Given the description of an element on the screen output the (x, y) to click on. 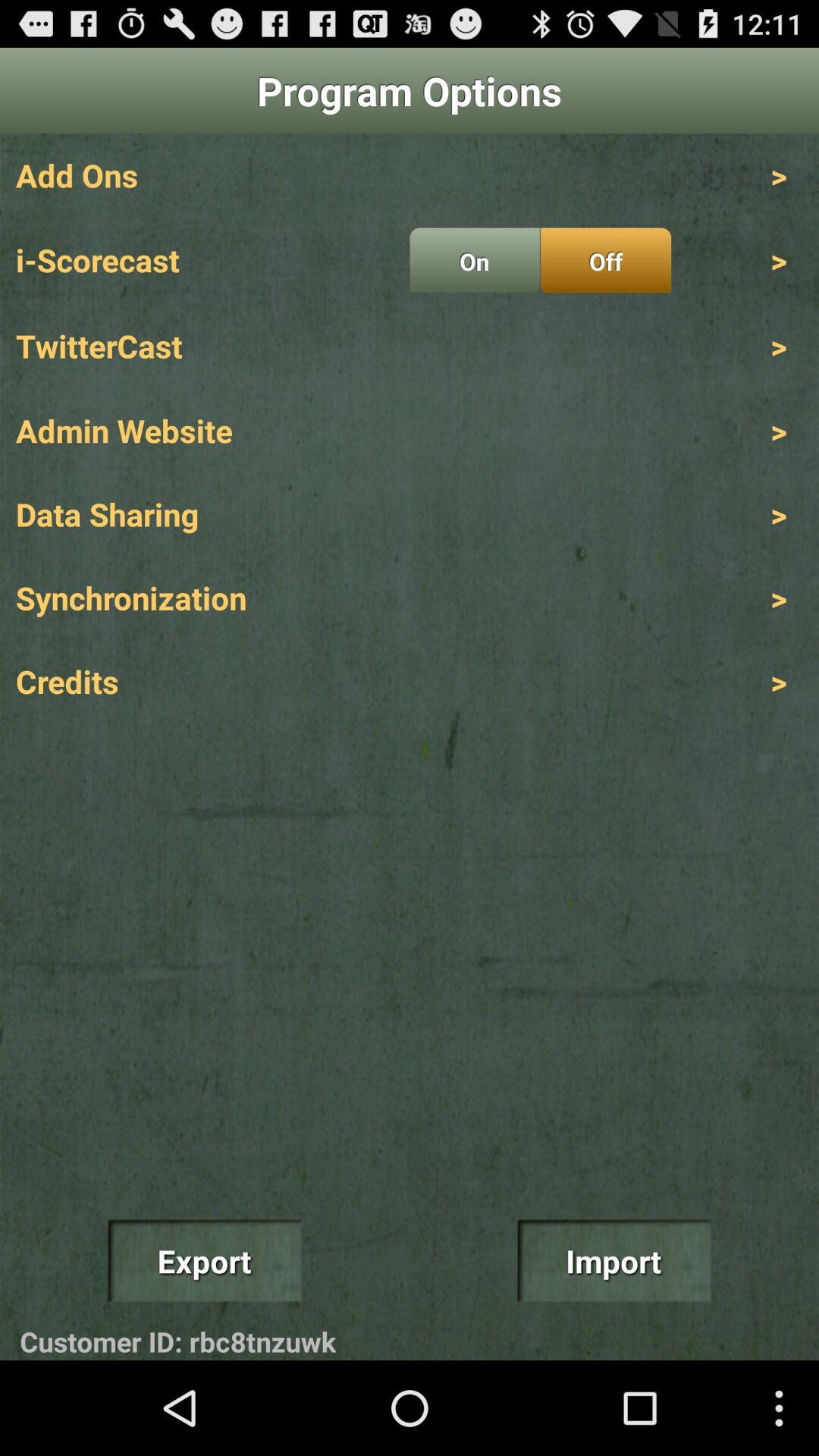
tap icon above twittercast icon (474, 259)
